Given the description of an element on the screen output the (x, y) to click on. 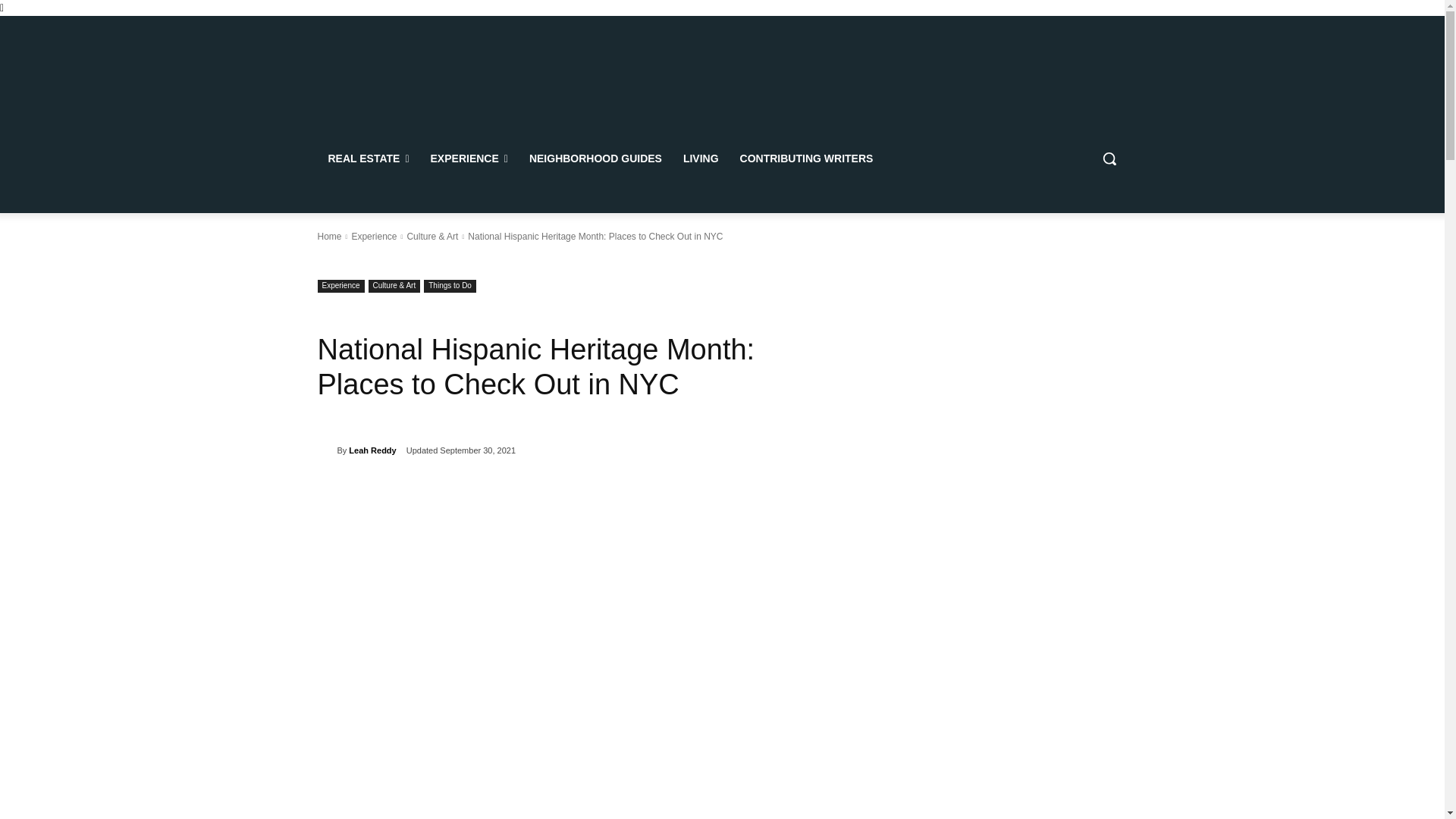
REAL ESTATE (368, 158)
EXPERIENCE (469, 158)
CONTRIBUTING WRITERS (806, 158)
NEIGHBORHOOD GUIDES (595, 158)
View all posts in Experience (373, 235)
Leah Reddy (326, 450)
LIVING (700, 158)
